Given the description of an element on the screen output the (x, y) to click on. 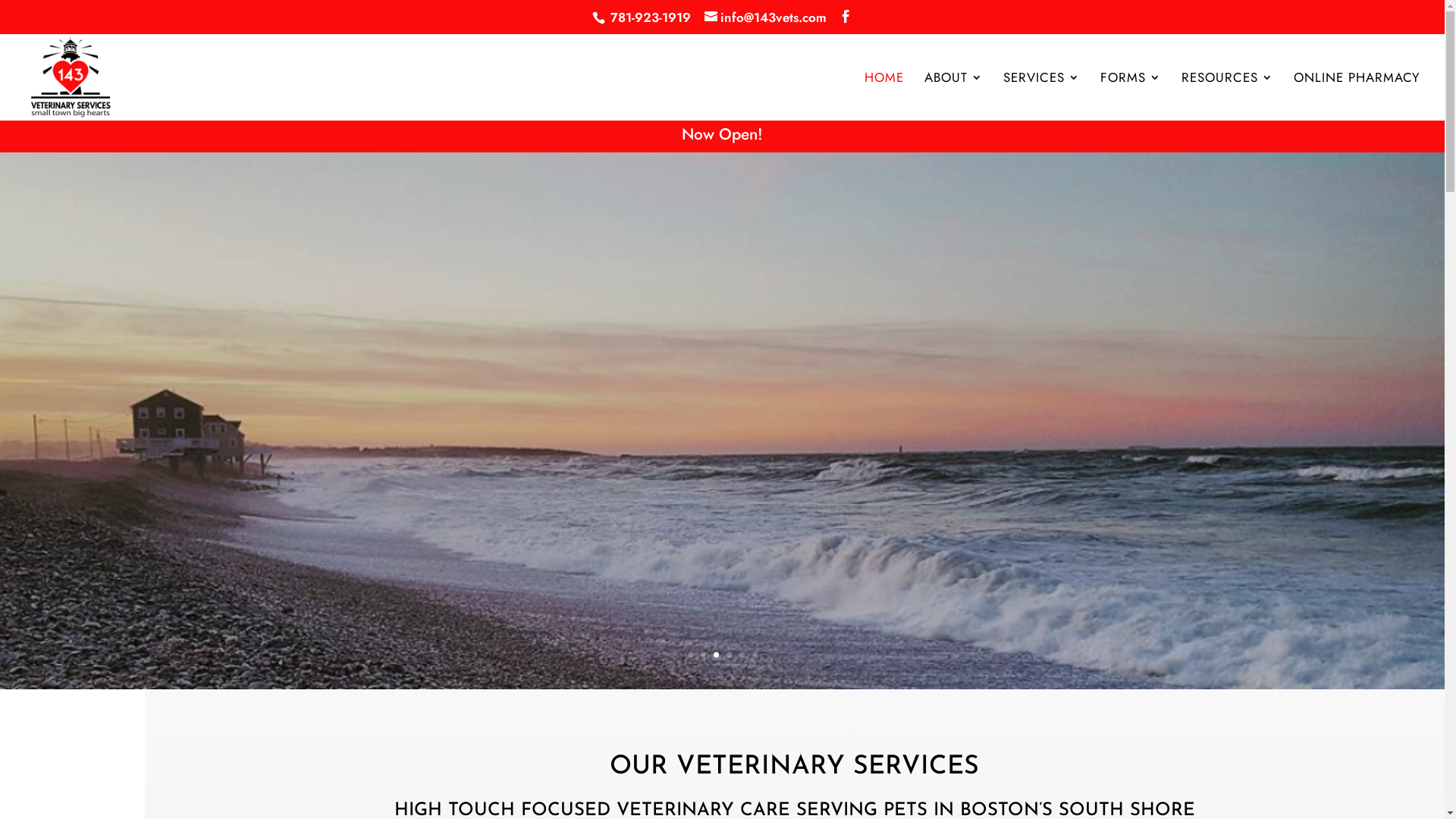
3 Element type: text (715, 654)
ABOUT Element type: text (953, 95)
143 VETERINARY SERVICES Element type: text (721, 469)
RESOURCES Element type: text (1227, 95)
info@143vets.com Element type: text (765, 17)
HOME Element type: text (883, 95)
781-923-1919 Element type: text (650, 17)
5 Element type: text (740, 654)
6 Element type: text (754, 654)
Your Hometown High Touch Veterinarian Element type: text (722, 382)
ONLINE PHARMACY Element type: text (1356, 95)
1 Element type: text (689, 654)
2 Element type: text (703, 654)
FORMS Element type: text (1130, 95)
4 Element type: text (728, 654)
SERVICES Element type: text (1041, 95)
